Given the description of an element on the screen output the (x, y) to click on. 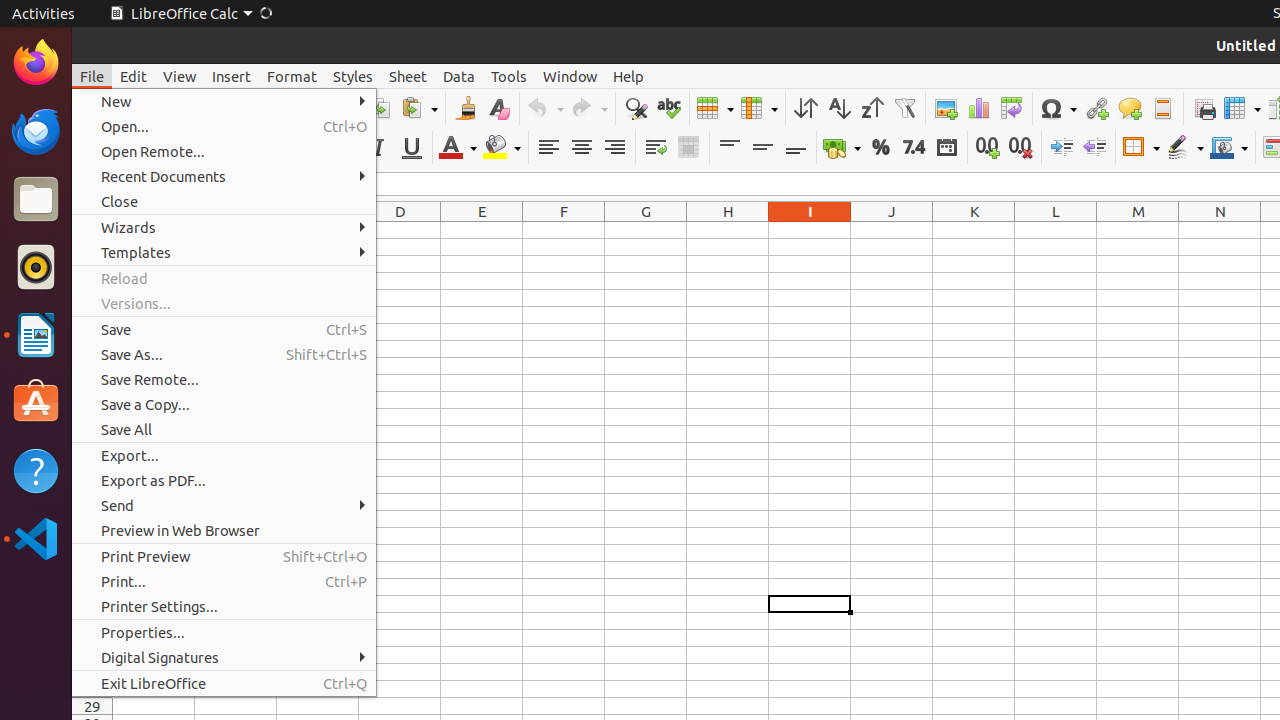
Save Element type: menu-item (224, 329)
K1 Element type: table-cell (974, 230)
J1 Element type: table-cell (892, 230)
H1 Element type: table-cell (728, 230)
Comment Element type: push-button (1129, 108)
